Given the description of an element on the screen output the (x, y) to click on. 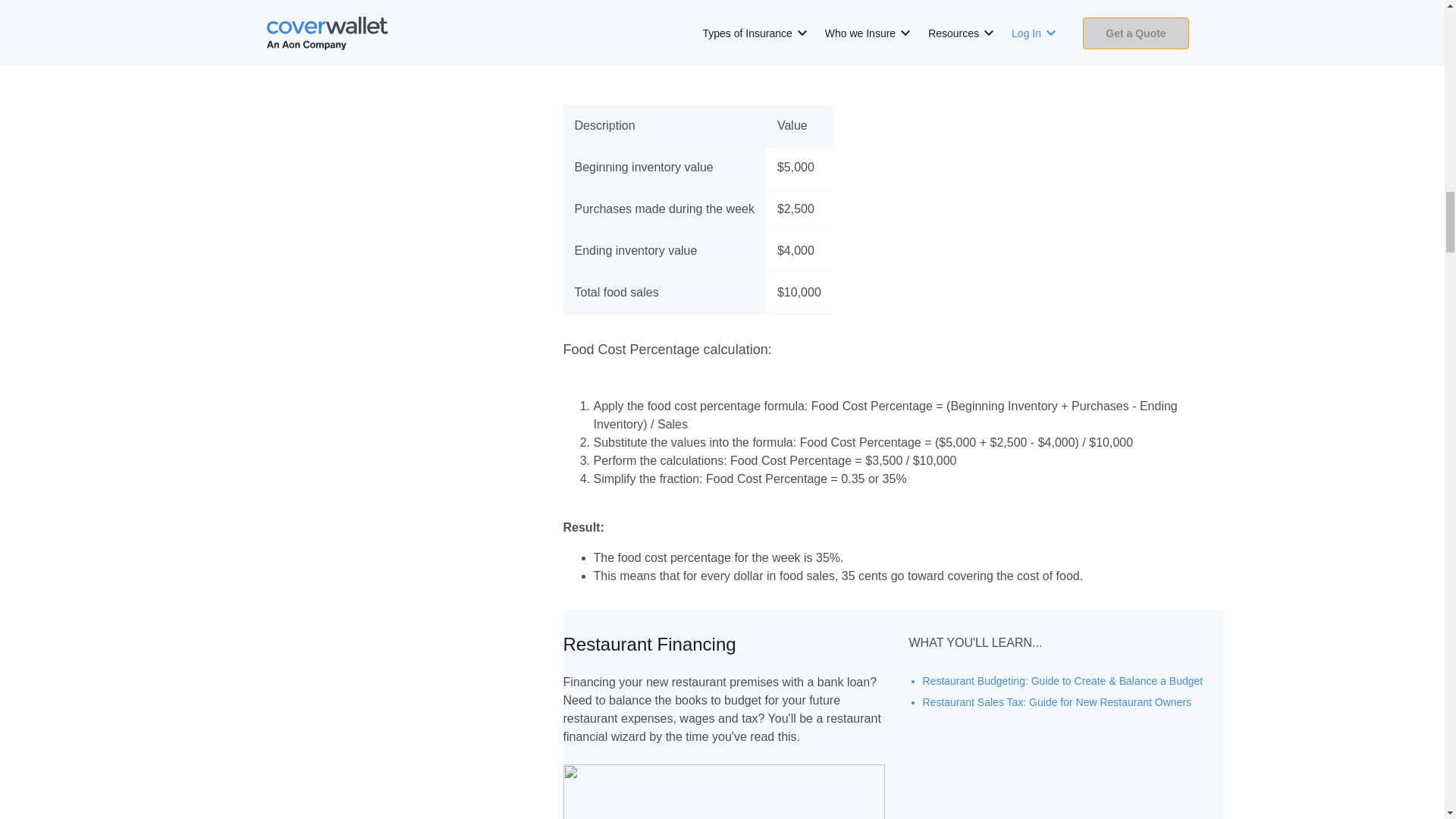
Restaurant Sales Tax: Guide for New Restaurant Owners (1056, 702)
